Given the description of an element on the screen output the (x, y) to click on. 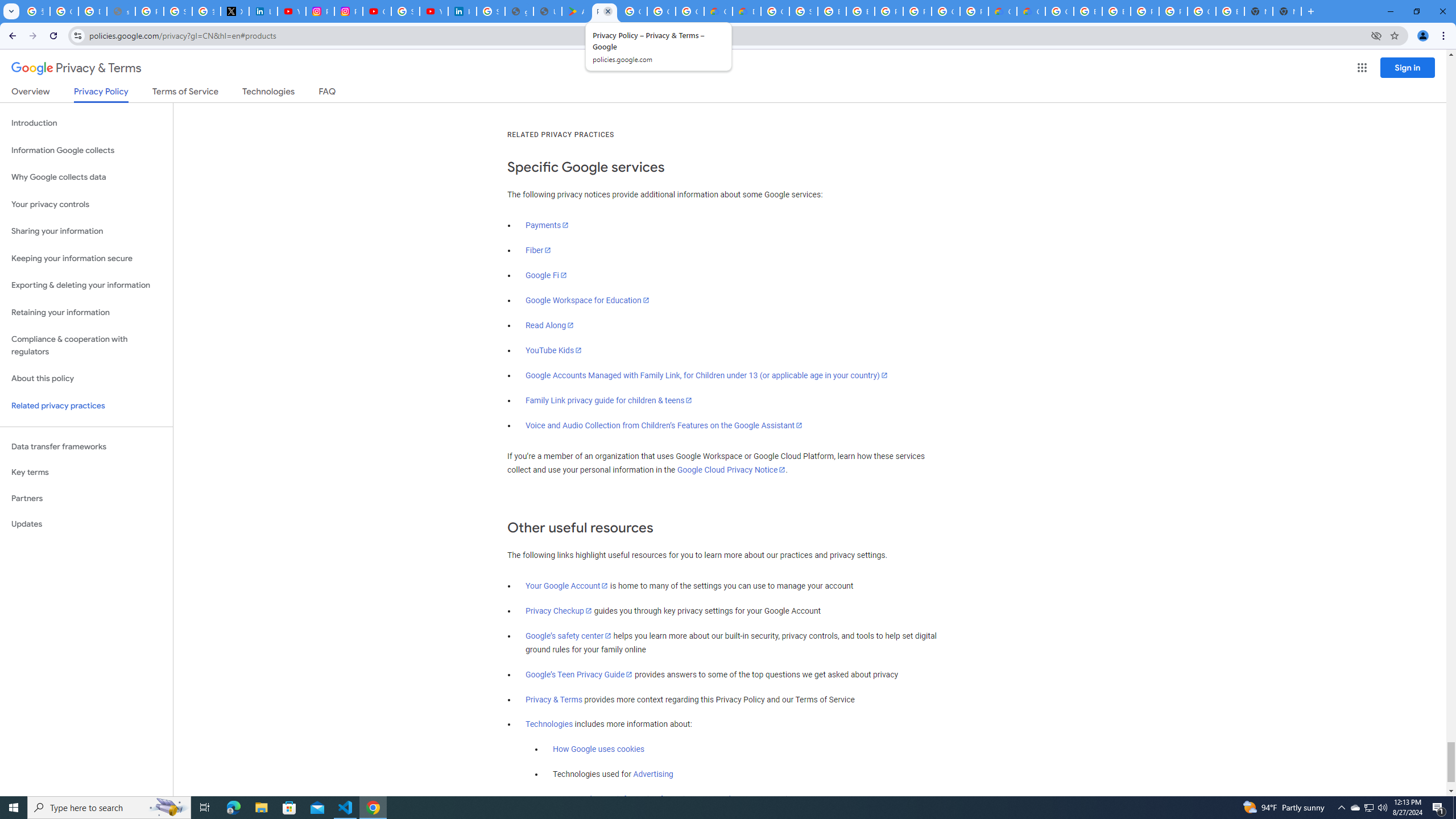
Browse Chrome as a guest - Computer - Google Chrome Help (1116, 11)
How Google uses cookies (599, 749)
Sign in - Google Accounts (178, 11)
google_privacy_policy_en.pdf (518, 11)
Compliance & cooperation with regulators (86, 345)
Your Google Account (566, 585)
Google Workspace for Education (587, 299)
Family Link privacy guide for children & teens (609, 400)
